Given the description of an element on the screen output the (x, y) to click on. 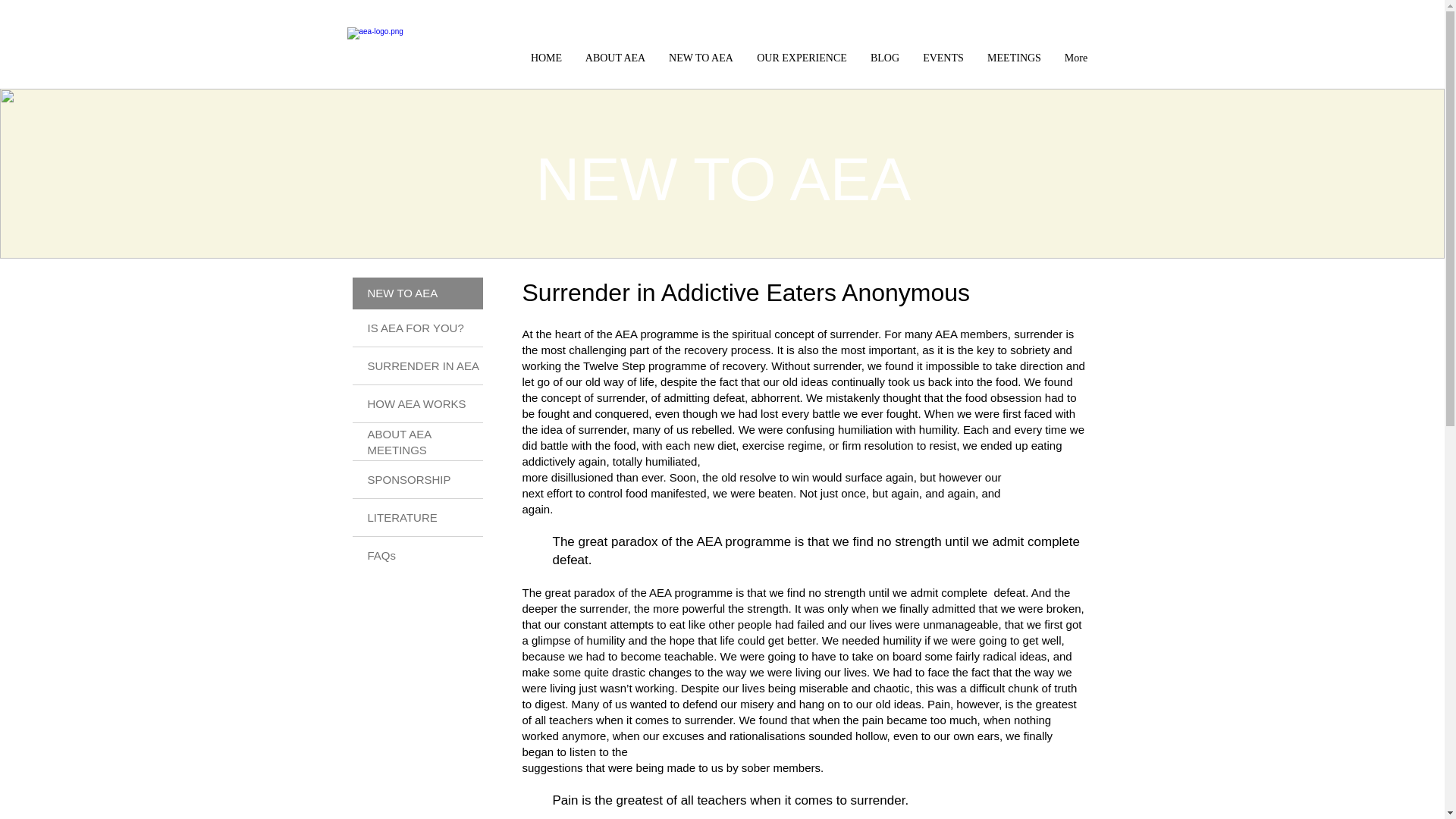
FAQs (381, 554)
IS AEA FOR YOU? (414, 327)
SPONSORSHIP (407, 479)
HOME (545, 58)
ABOUT AEA MEETINGS (398, 441)
LITERATURE (401, 517)
HOW AEA WORKS (415, 403)
SURRENDER IN AEA (422, 365)
BLOG (885, 58)
MEETINGS (1013, 58)
